Given the description of an element on the screen output the (x, y) to click on. 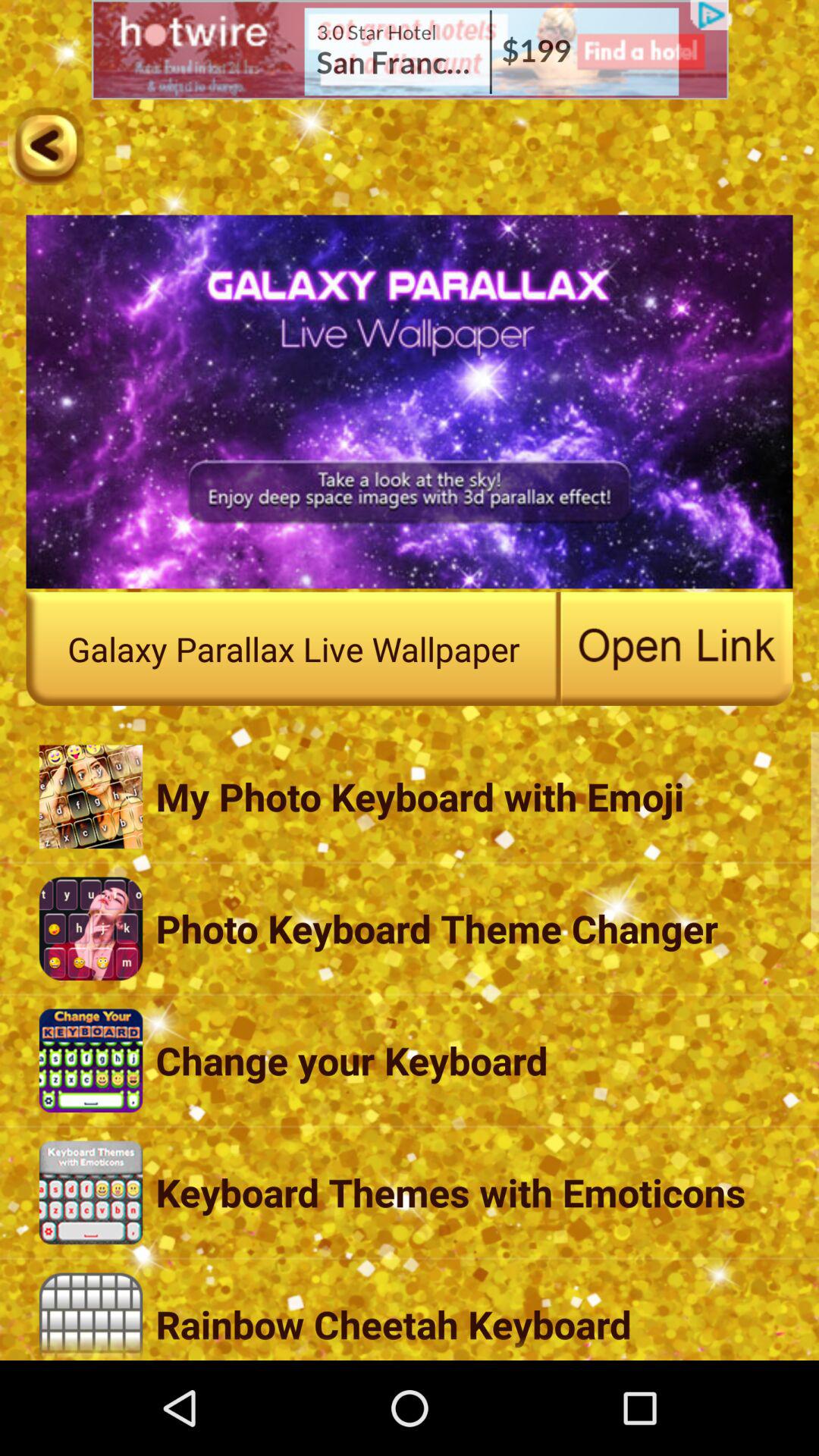
advertisement information (409, 49)
